Given the description of an element on the screen output the (x, y) to click on. 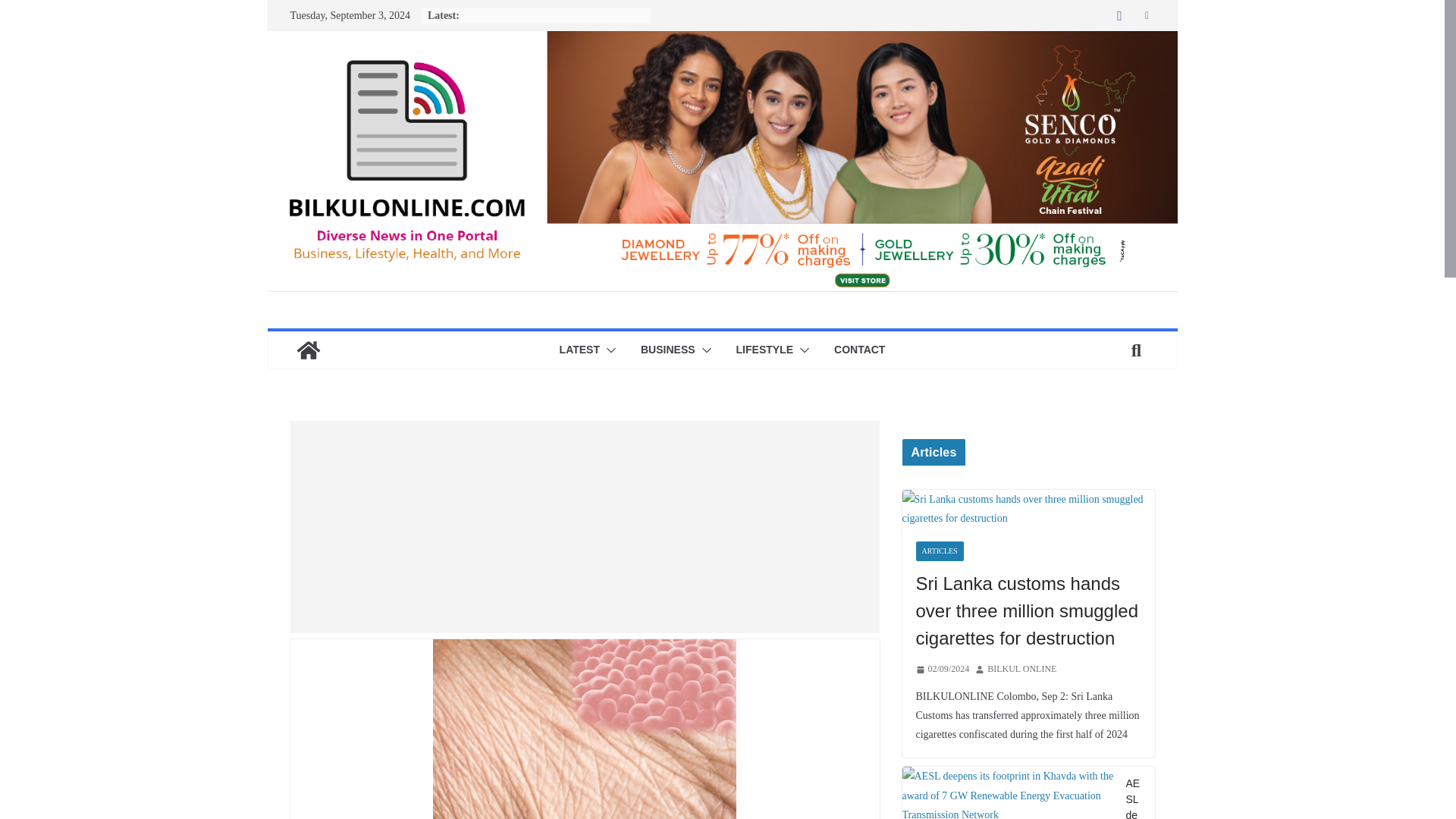
BUSINESS (667, 350)
Bilkul Online (307, 350)
LIFESTYLE (764, 350)
LATEST (579, 350)
Bilkul Online (721, 41)
CONTACT (859, 350)
